Given the description of an element on the screen output the (x, y) to click on. 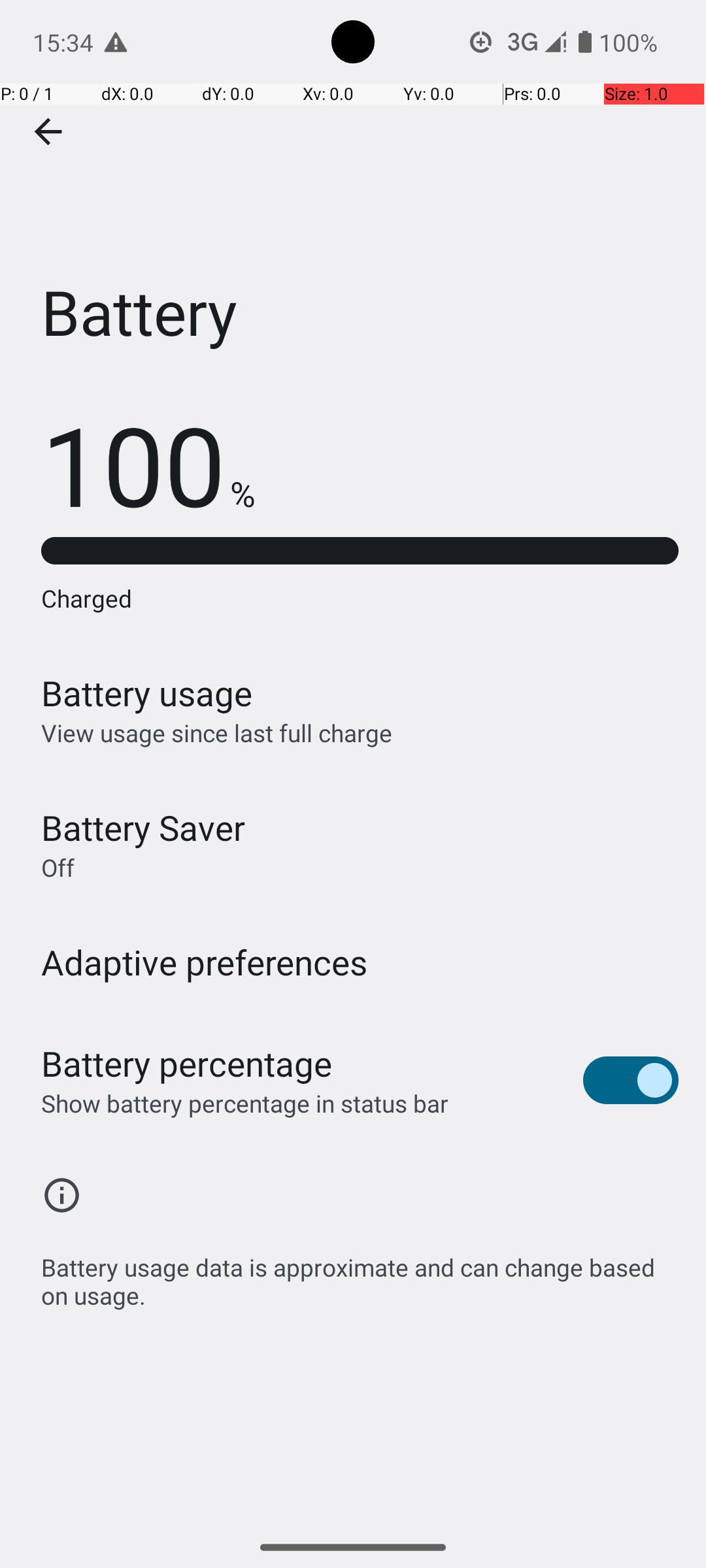
100 % Element type: android.widget.TextView (147, 463)
Charged Element type: android.widget.TextView (359, 597)
Battery usage Element type: android.widget.TextView (146, 692)
View usage since last full charge Element type: android.widget.TextView (216, 732)
Battery Saver Element type: android.widget.TextView (143, 827)
Adaptive preferences Element type: android.widget.TextView (204, 961)
Battery percentage Element type: android.widget.TextView (186, 1063)
Show battery percentage in status bar Element type: android.widget.TextView (244, 1102)
Battery usage data is approximate and can change based on usage. Element type: android.widget.TextView (359, 1274)
